Given the description of an element on the screen output the (x, y) to click on. 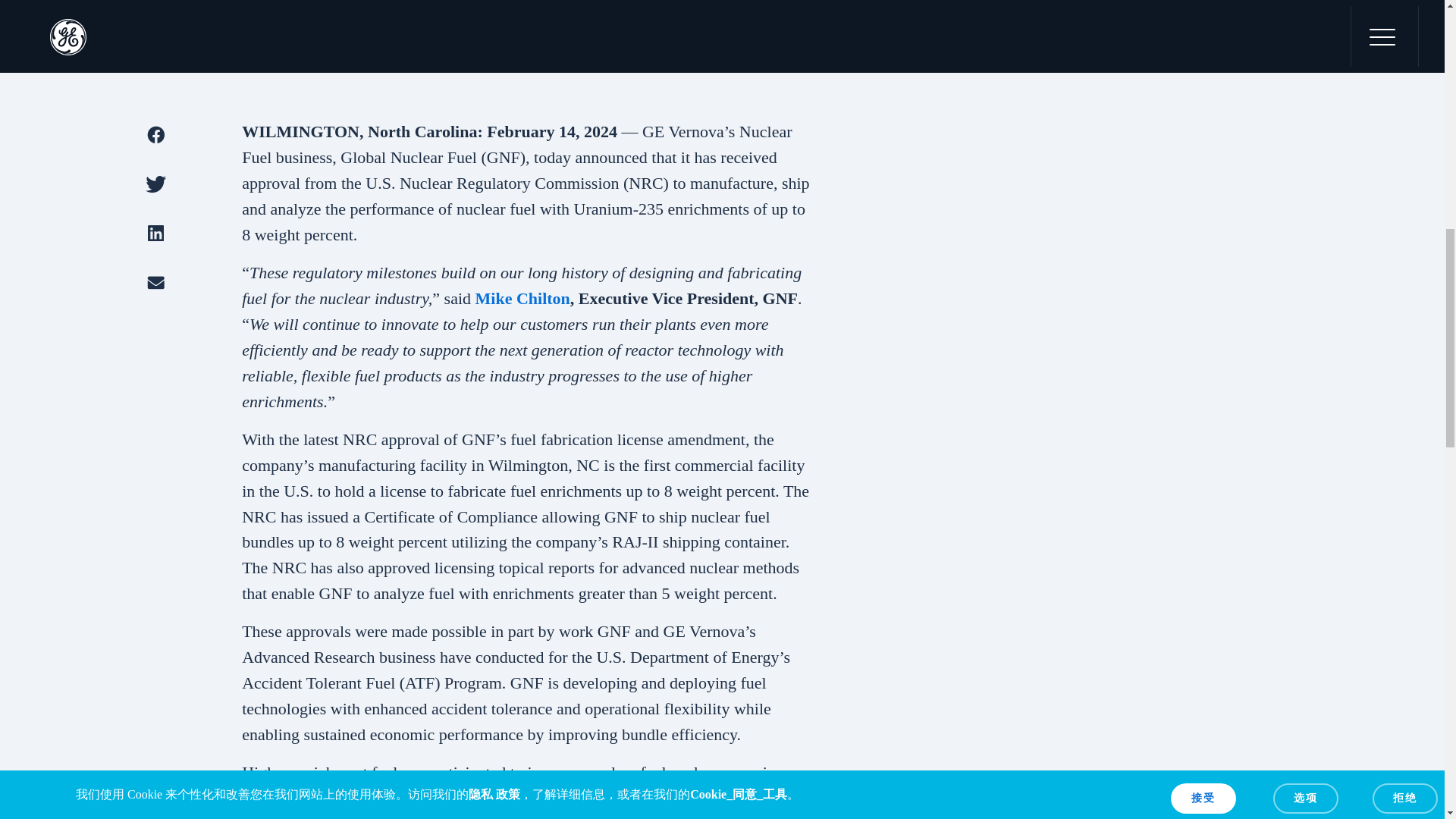
Mike Chilton (523, 298)
